Given the description of an element on the screen output the (x, y) to click on. 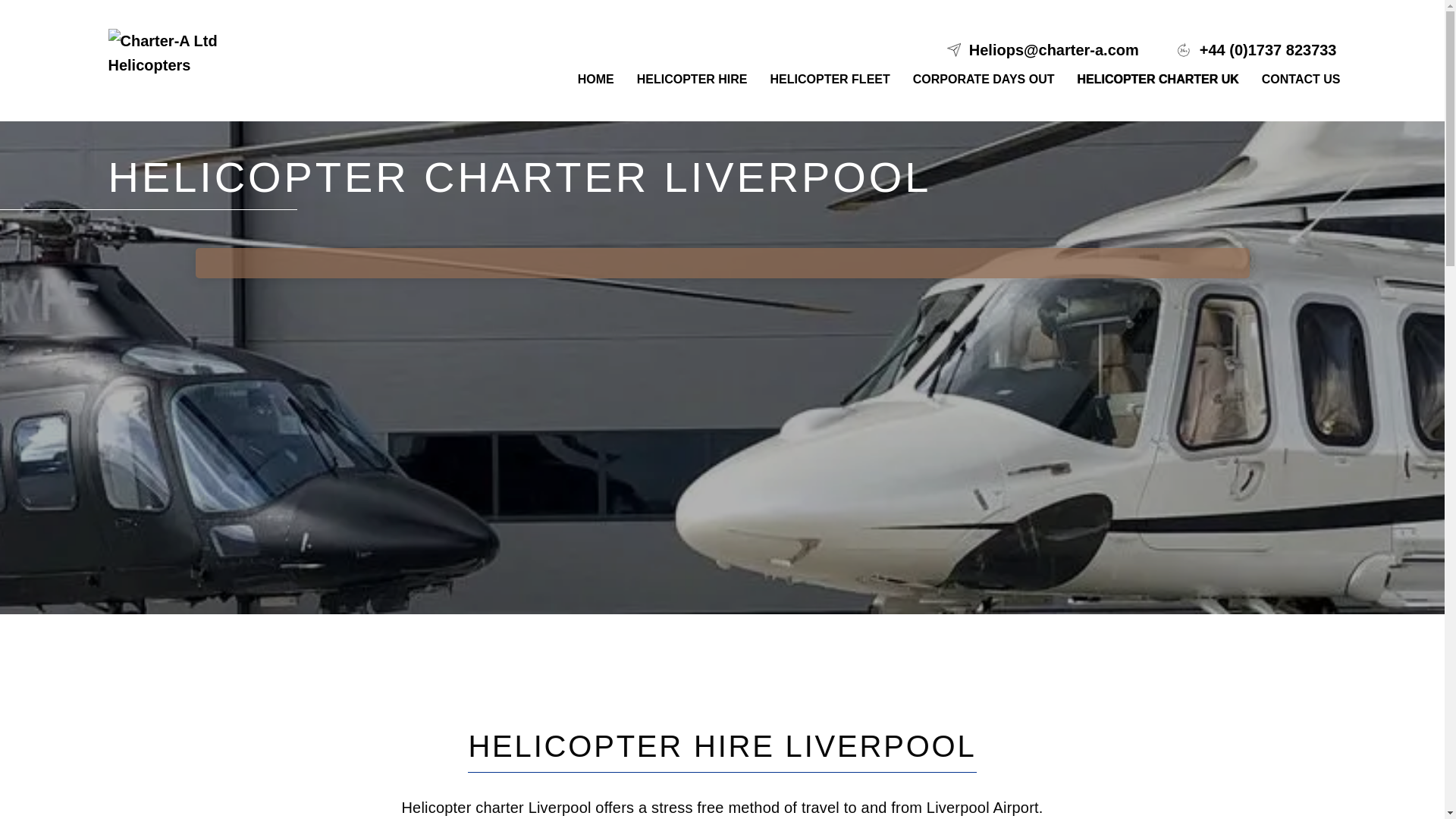
HOME (596, 79)
CORPORATE DAYS OUT (983, 79)
Back to Homepage (191, 56)
HELICOPTER FLEET (829, 79)
HELICOPTER HIRE (692, 79)
